Given the description of an element on the screen output the (x, y) to click on. 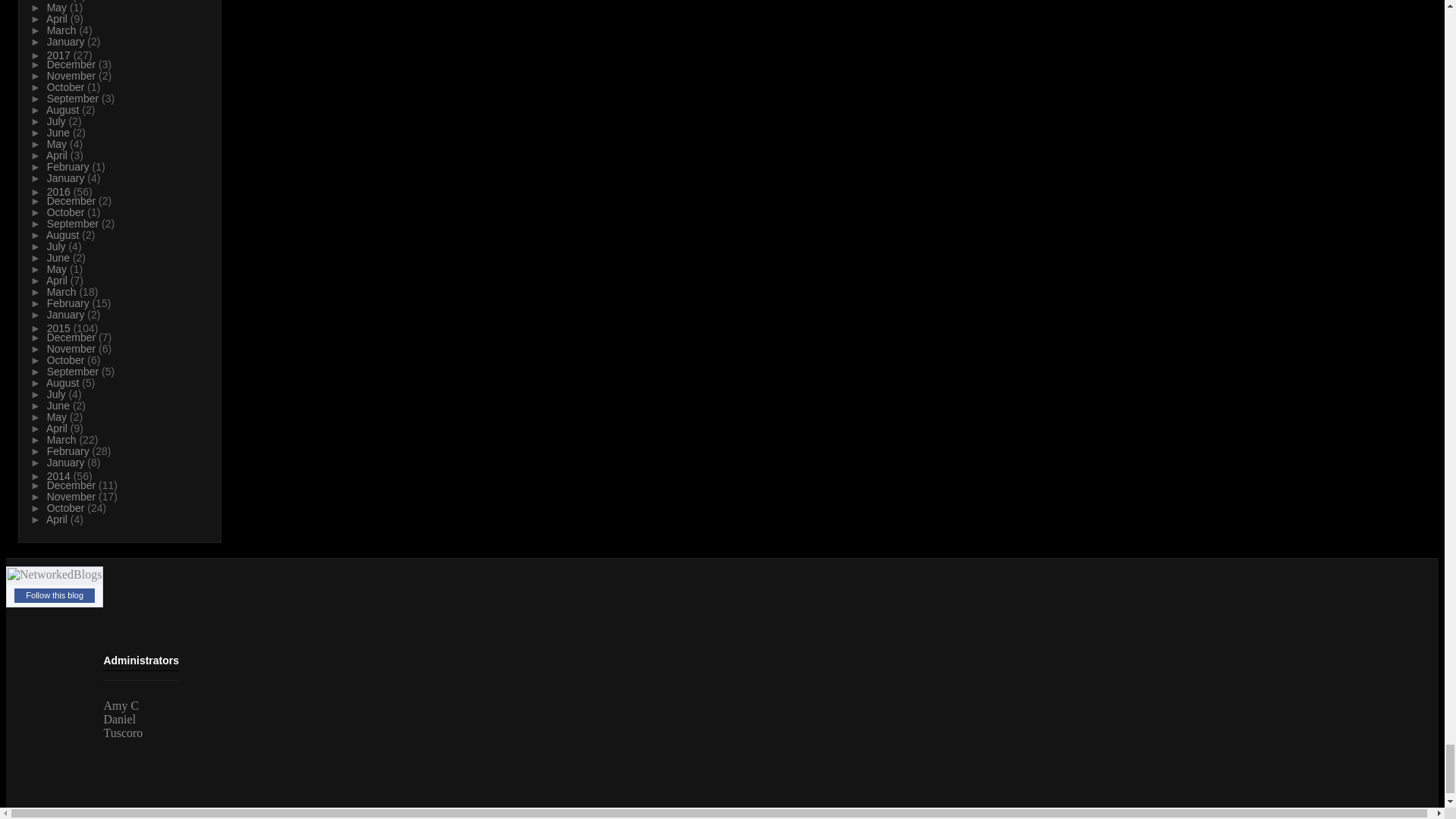
NetworkedBlogs (54, 574)
NetworkedBlogs (54, 574)
